Given the description of an element on the screen output the (x, y) to click on. 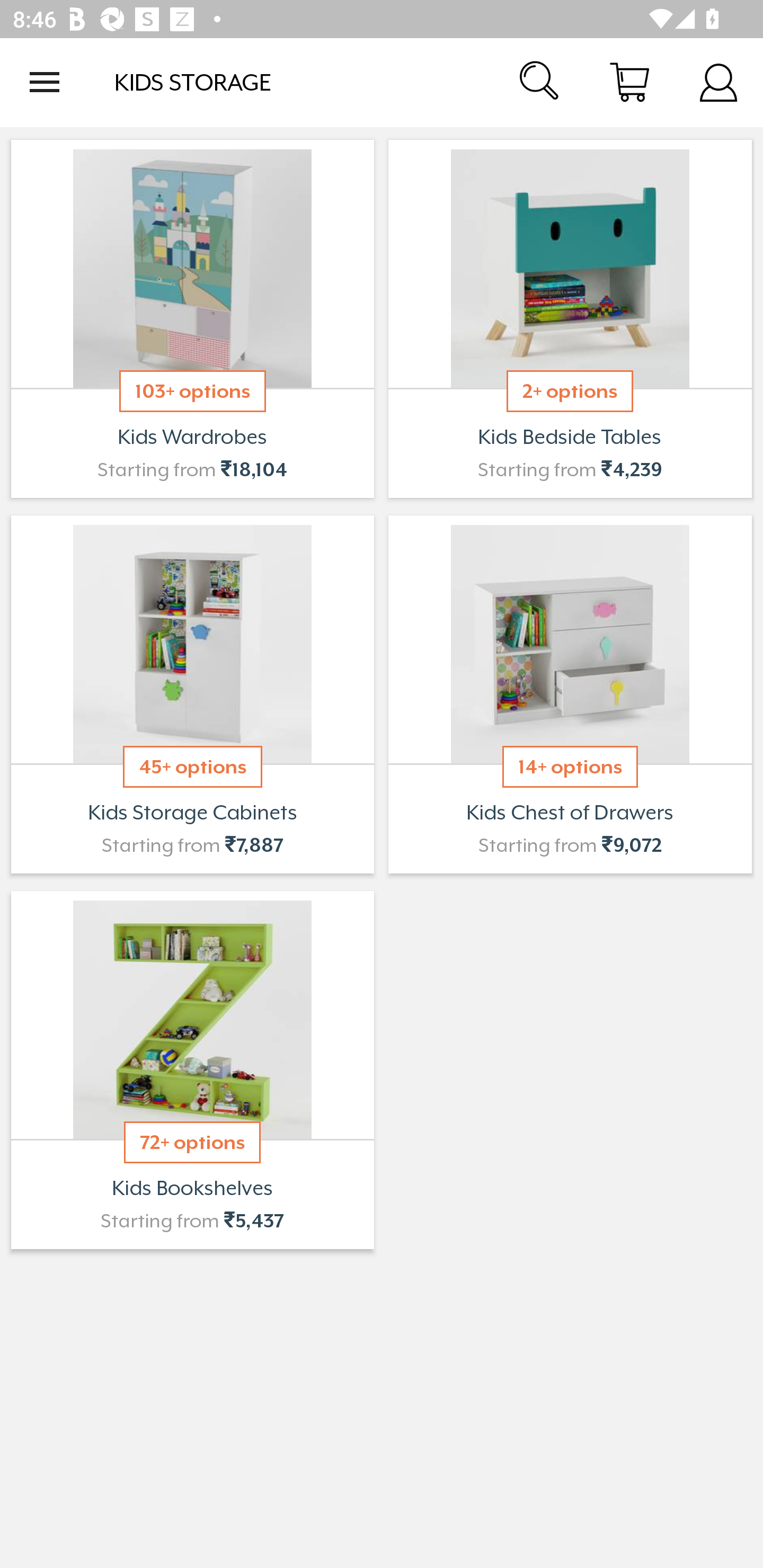
Open navigation drawer (44, 82)
Search (540, 81)
Cart (629, 81)
Account Details (718, 81)
103+ options Kids Wardrobes Starting from  ₹18,104 (191, 318)
72+ options Kids Bookshelves Starting from  ₹5,437 (191, 1069)
